Given the description of an element on the screen output the (x, y) to click on. 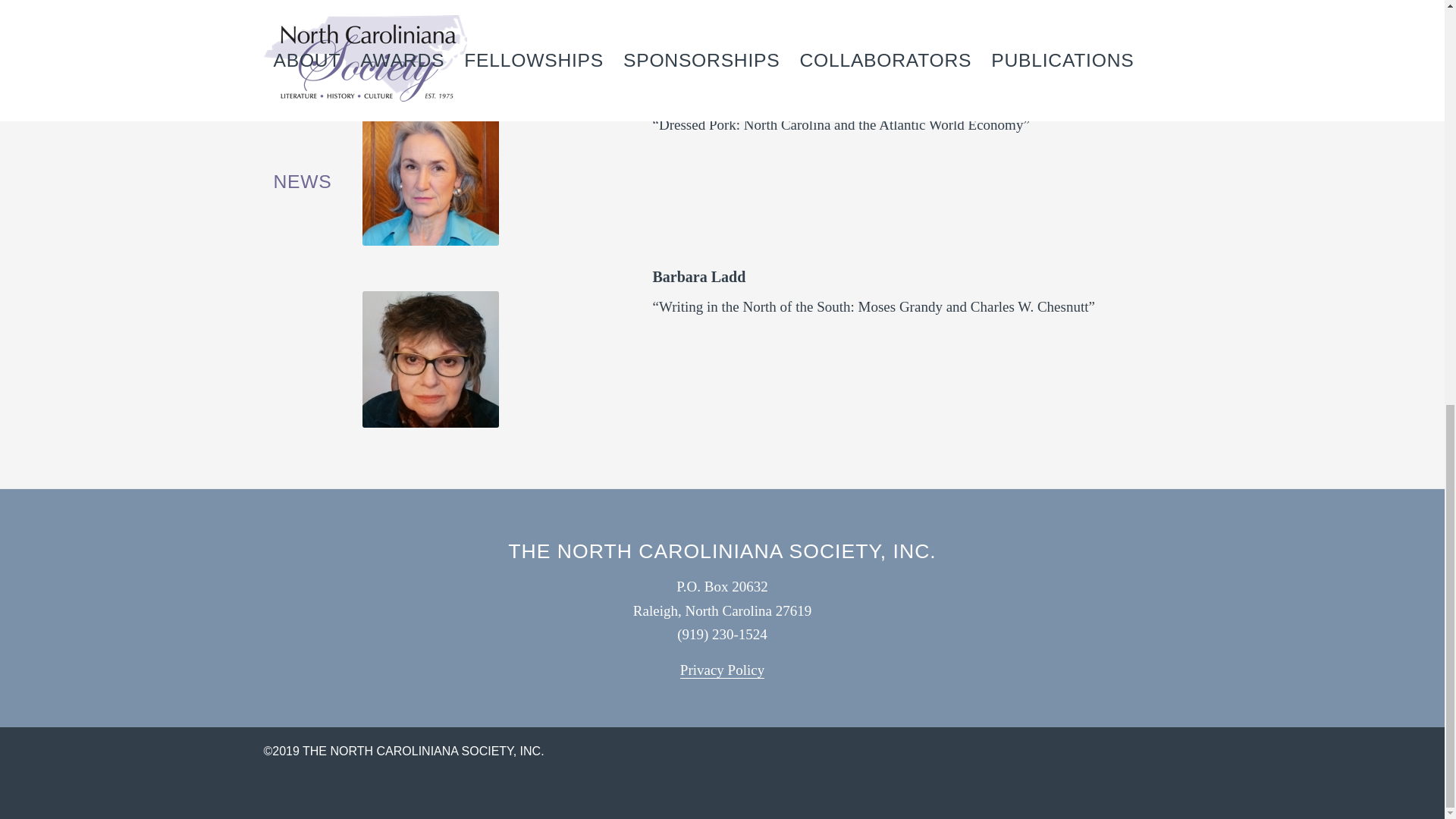
Holtzman photo copy (430, 31)
McIlvenna photo copy (430, 176)
Privacy Policy (721, 669)
Ladd photo copy (430, 359)
